Given the description of an element on the screen output the (x, y) to click on. 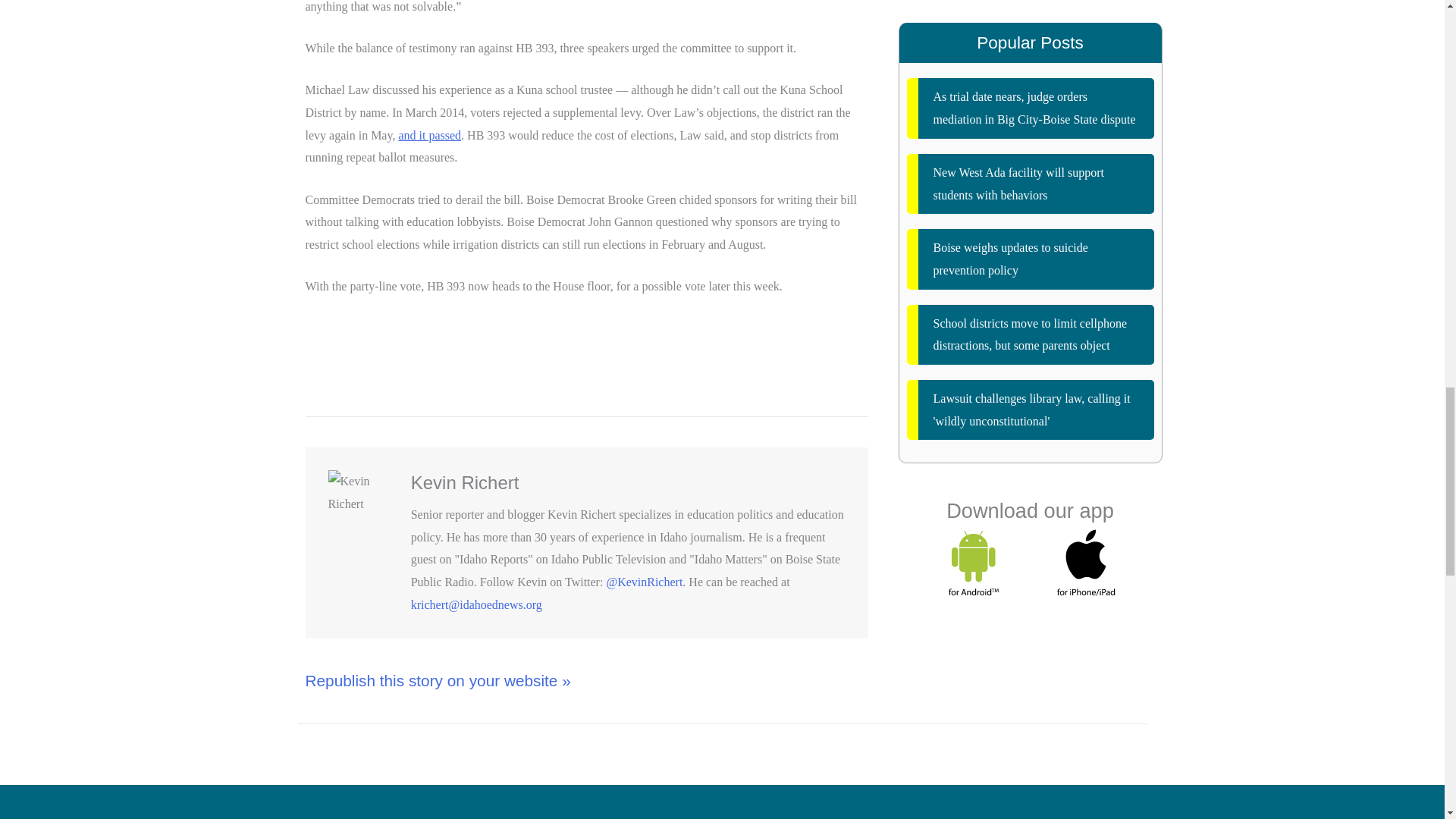
and it passed (429, 134)
Boise weighs updates to suicide prevention policy (1030, 259)
New West Ada facility will support students with behaviors (1030, 183)
